Given the description of an element on the screen output the (x, y) to click on. 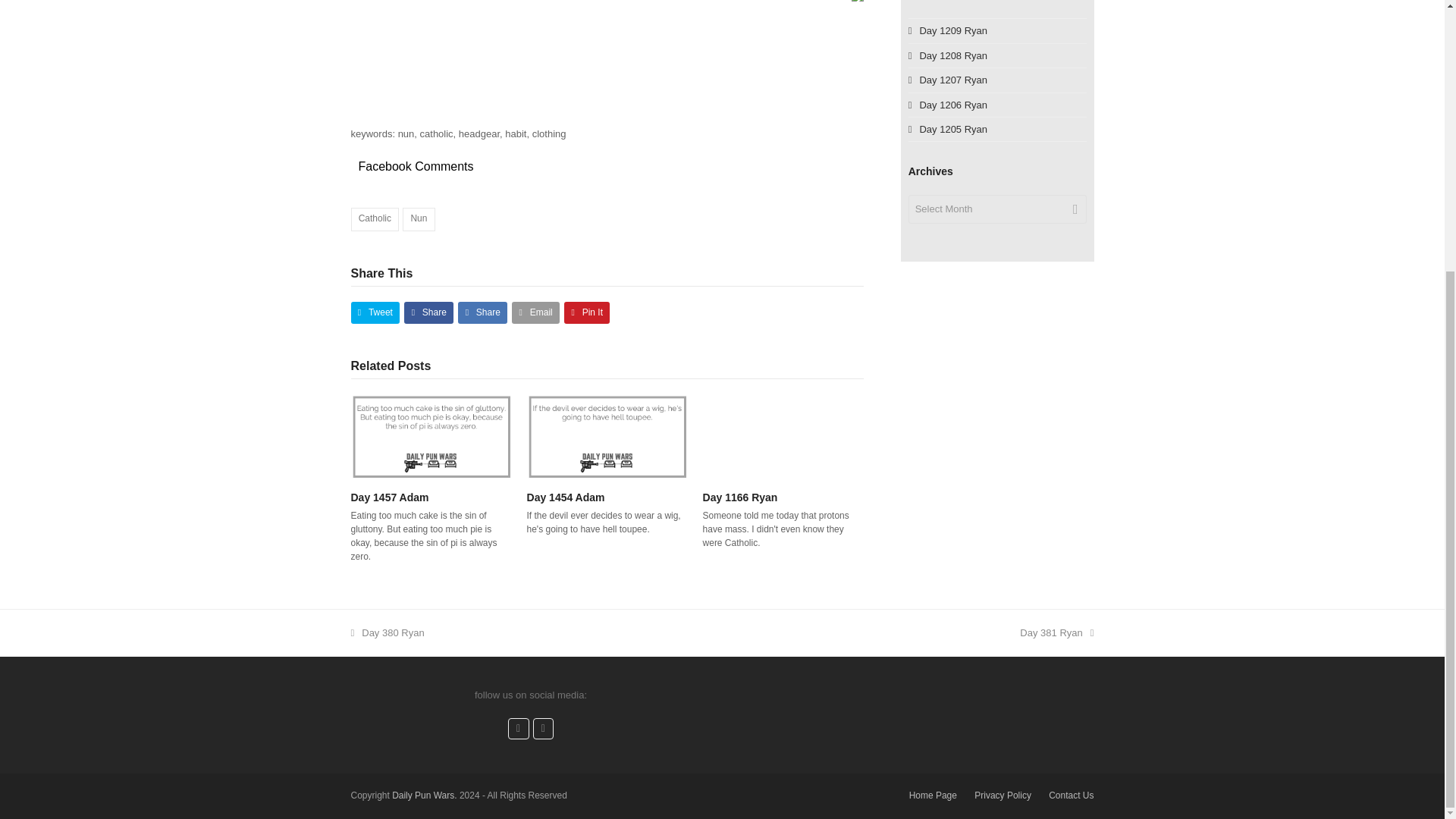
Day 1457 Adam (430, 436)
Day 1454 Adam (607, 436)
Day 1166 Ryan (783, 436)
Instagram (542, 728)
Facebook (518, 728)
